Given the description of an element on the screen output the (x, y) to click on. 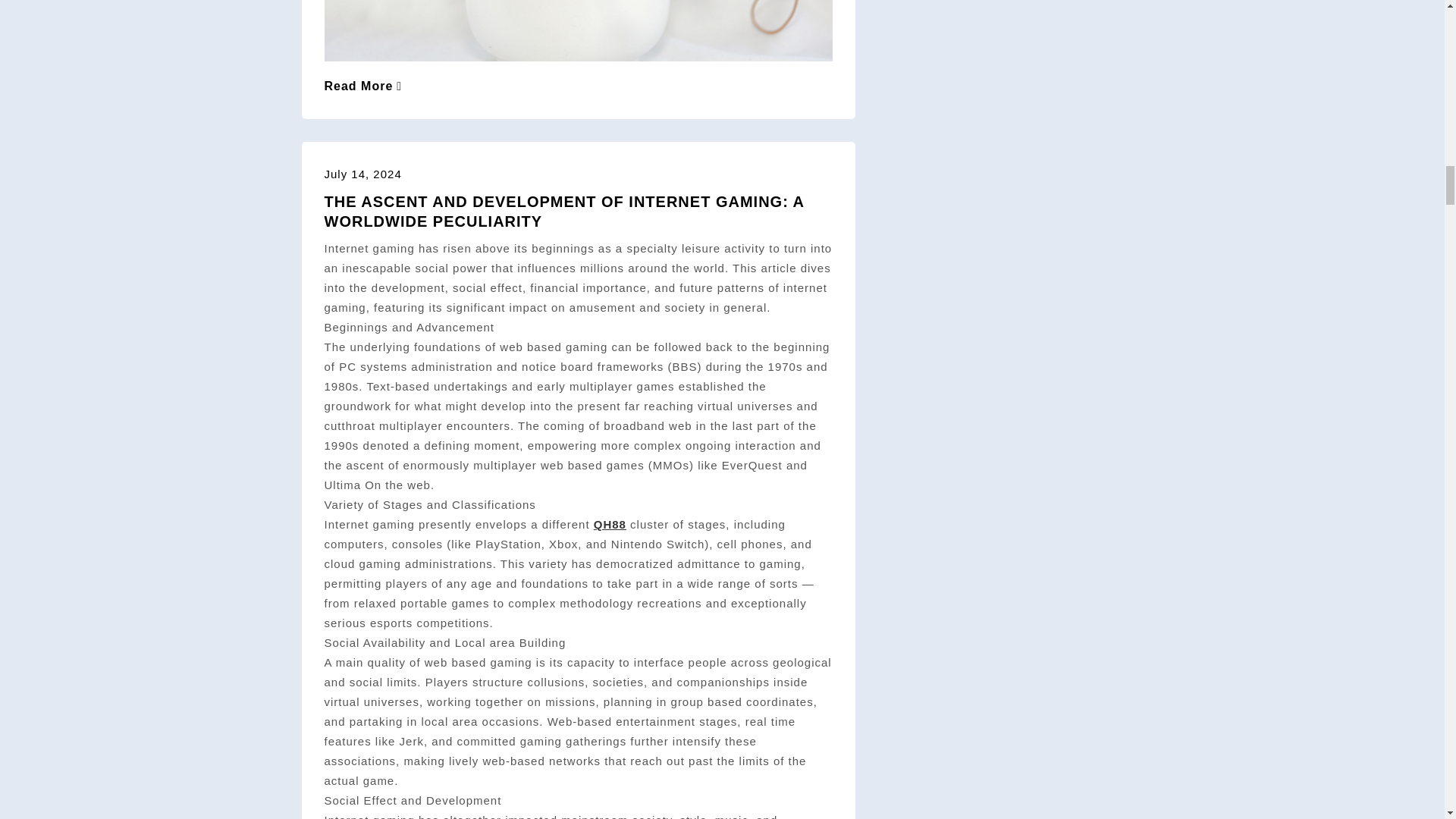
QH88 (610, 523)
Read More (363, 85)
July 14, 2024 (362, 173)
